Given the description of an element on the screen output the (x, y) to click on. 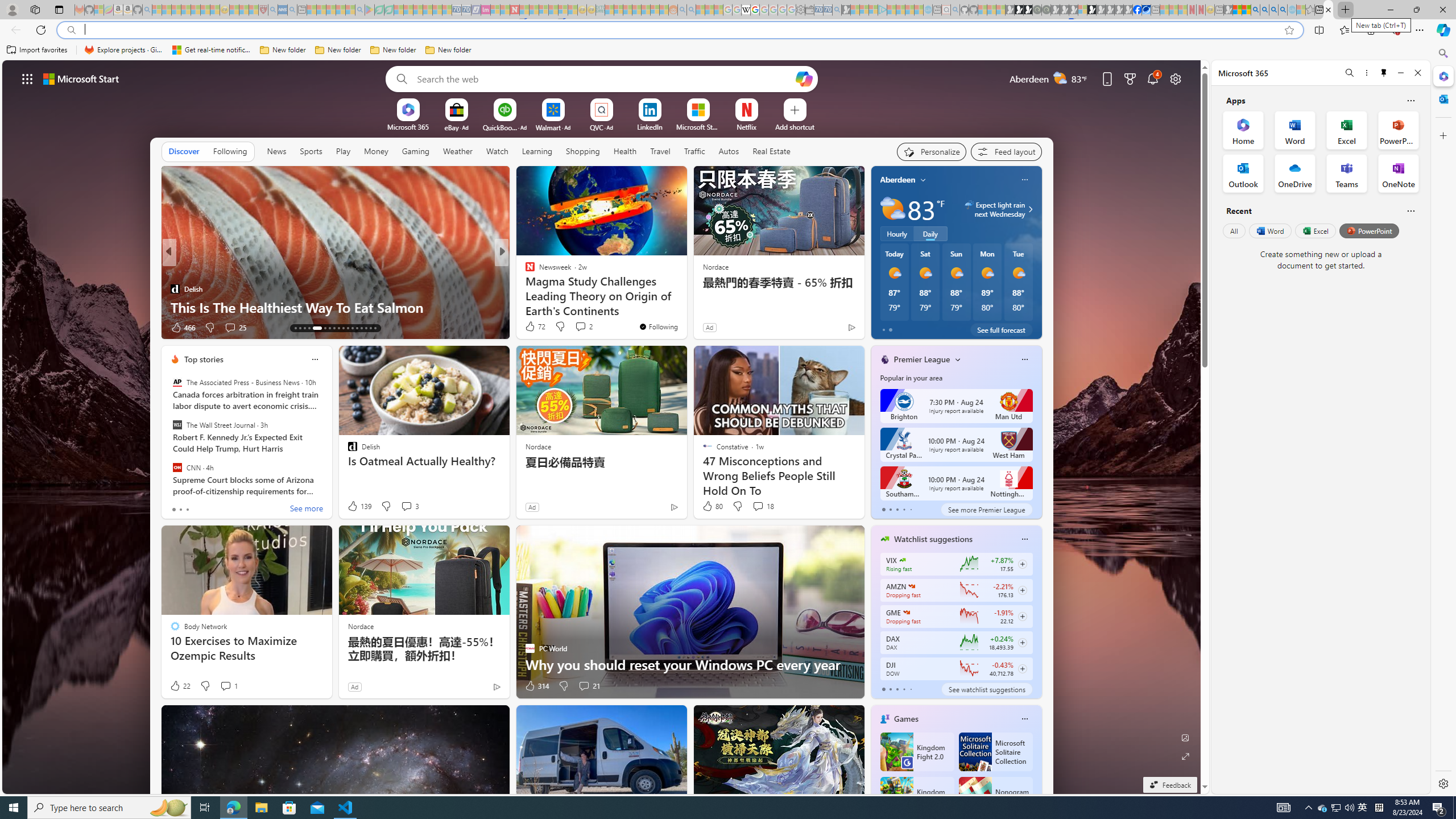
View comments 29 Comment (580, 327)
Entrepreneur (524, 270)
tab-4 (910, 689)
Wallet - Sleeping (809, 9)
139 Like (358, 505)
The Hearty Soul (524, 270)
View comments 5 Comment (576, 327)
Word (1269, 230)
Kingdom Fight (916, 796)
Real Estate (771, 151)
72 Like (534, 326)
Sign in to your account - Sleeping (1082, 9)
